Given the description of an element on the screen output the (x, y) to click on. 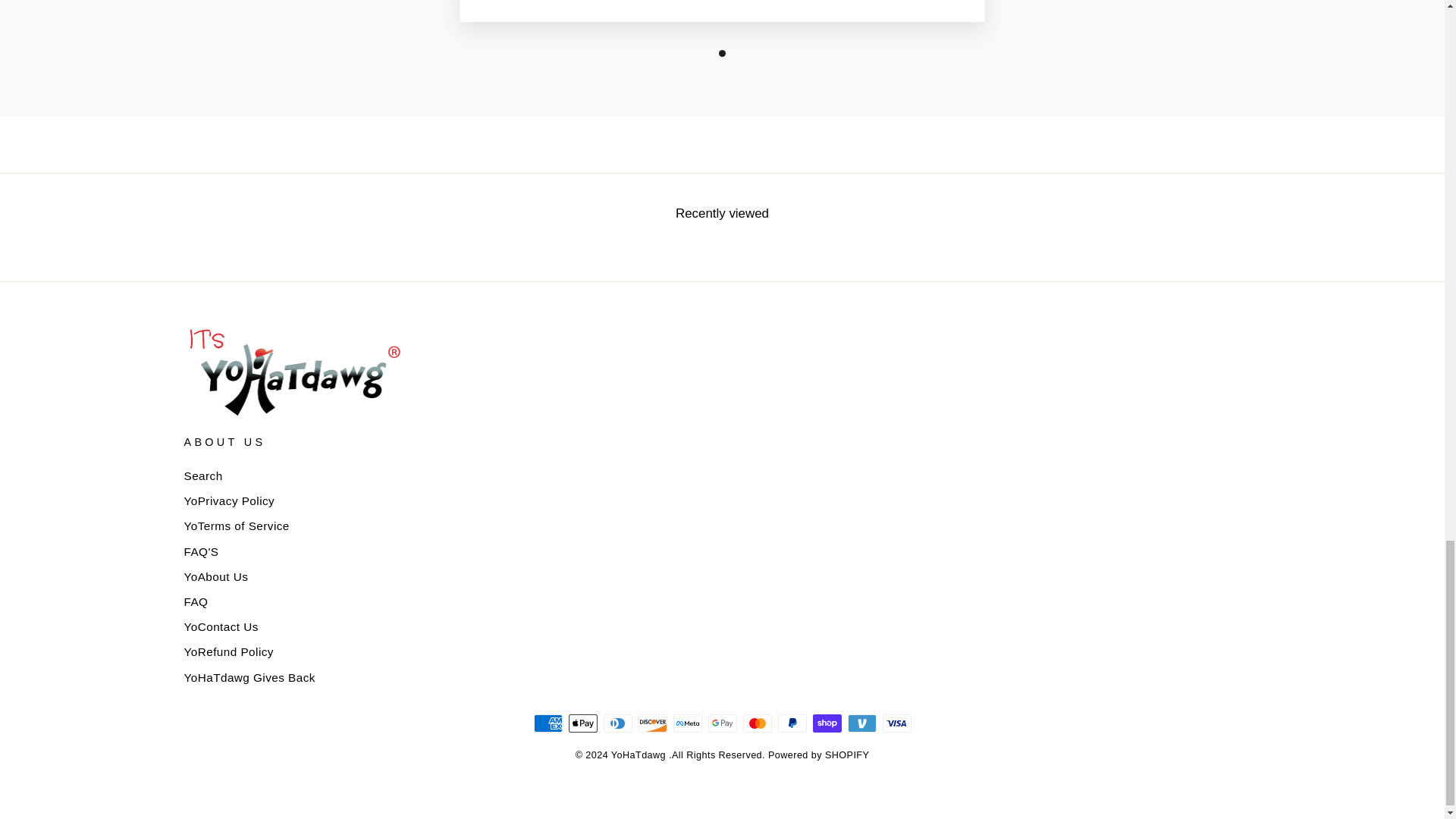
Google Pay (721, 723)
Mastercard (756, 723)
Diners Club (617, 723)
Visa (896, 723)
Meta Pay (686, 723)
Shop Pay (826, 723)
American Express (548, 723)
PayPal (791, 723)
Venmo (861, 723)
Discover (652, 723)
Apple Pay (582, 723)
